Given the description of an element on the screen output the (x, y) to click on. 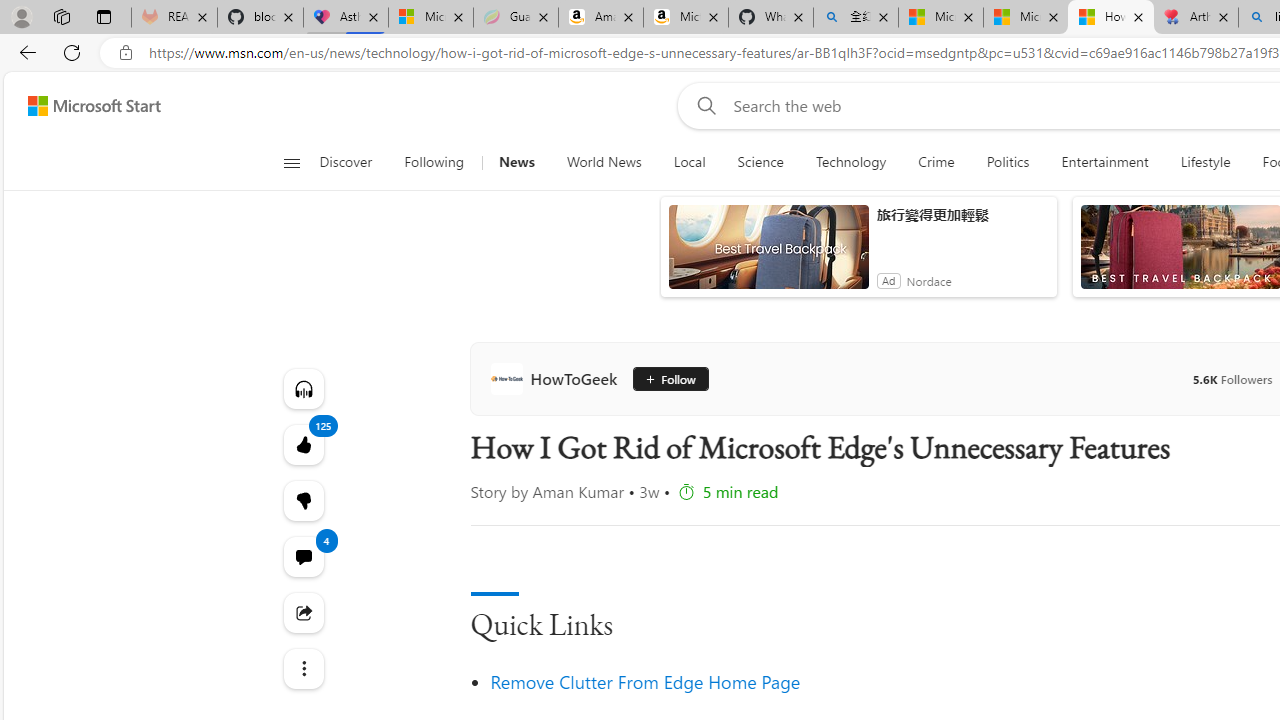
Entertainment (1104, 162)
Local (688, 162)
